Given the description of an element on the screen output the (x, y) to click on. 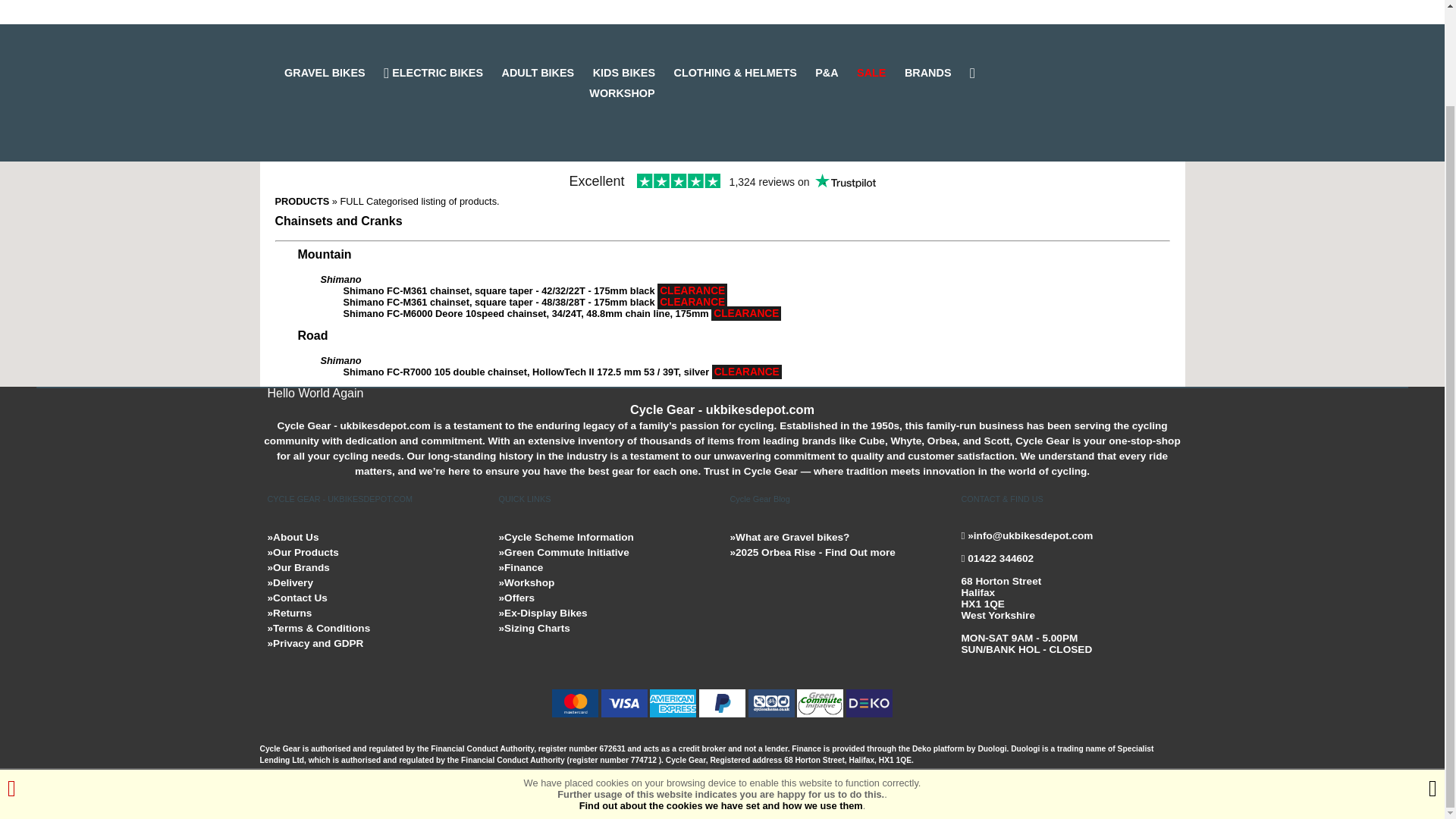
WORKSHOP (782, 82)
Chainsets and Cranks (338, 220)
ELECTRIC BIKES (440, 72)
Find out about the cookies we have set and how we use them (721, 695)
ADULT BIKES (545, 72)
PRODUCTS (302, 201)
GRAVEL BIKES (331, 72)
Road (312, 335)
Our Brands (297, 567)
SALE (879, 72)
BRANDS (935, 72)
KIDS BIKES (630, 72)
Our Products (301, 552)
About Us (292, 536)
Mountain (323, 254)
